Given the description of an element on the screen output the (x, y) to click on. 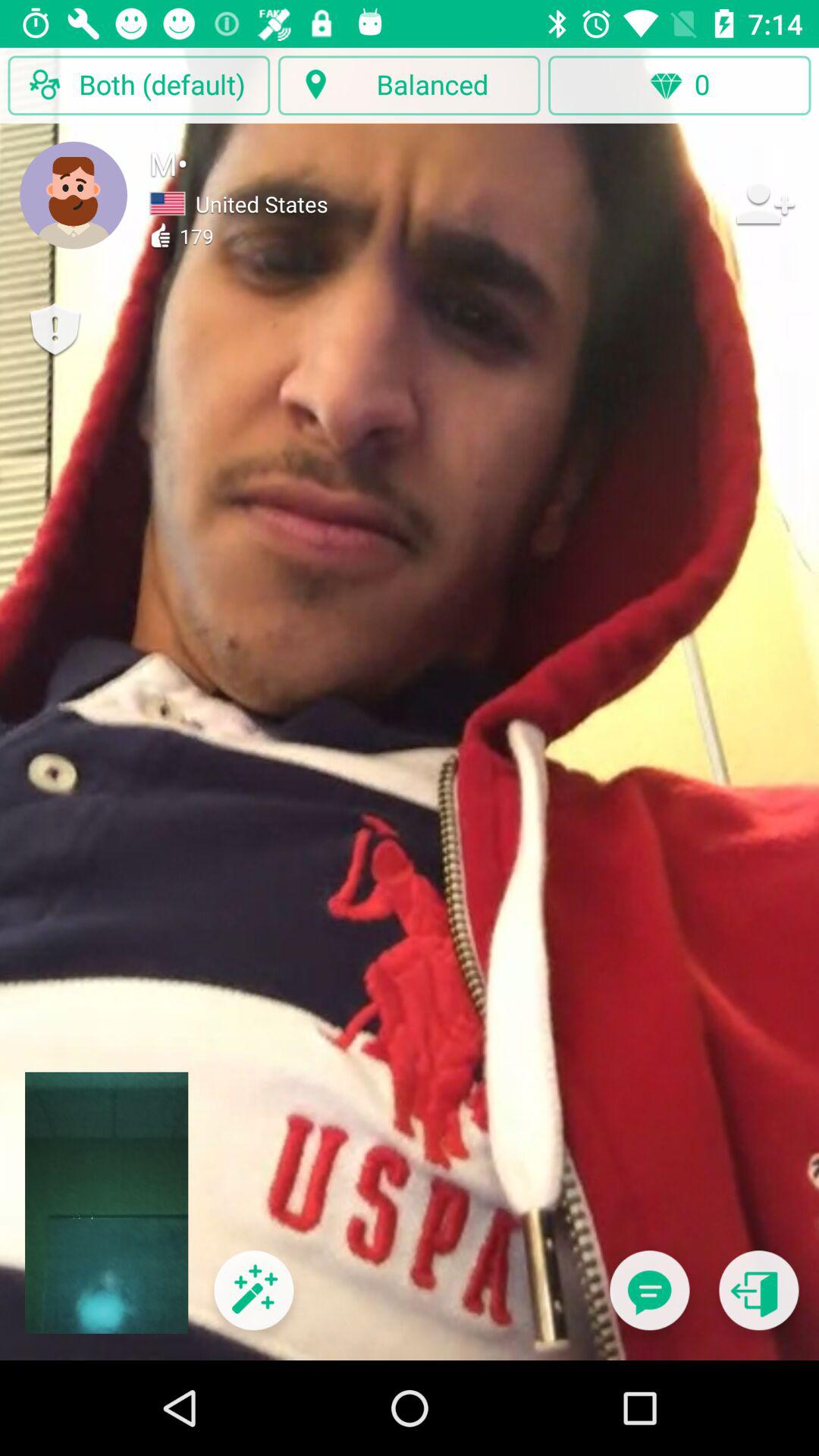
open messenger (649, 1300)
